Given the description of an element on the screen output the (x, y) to click on. 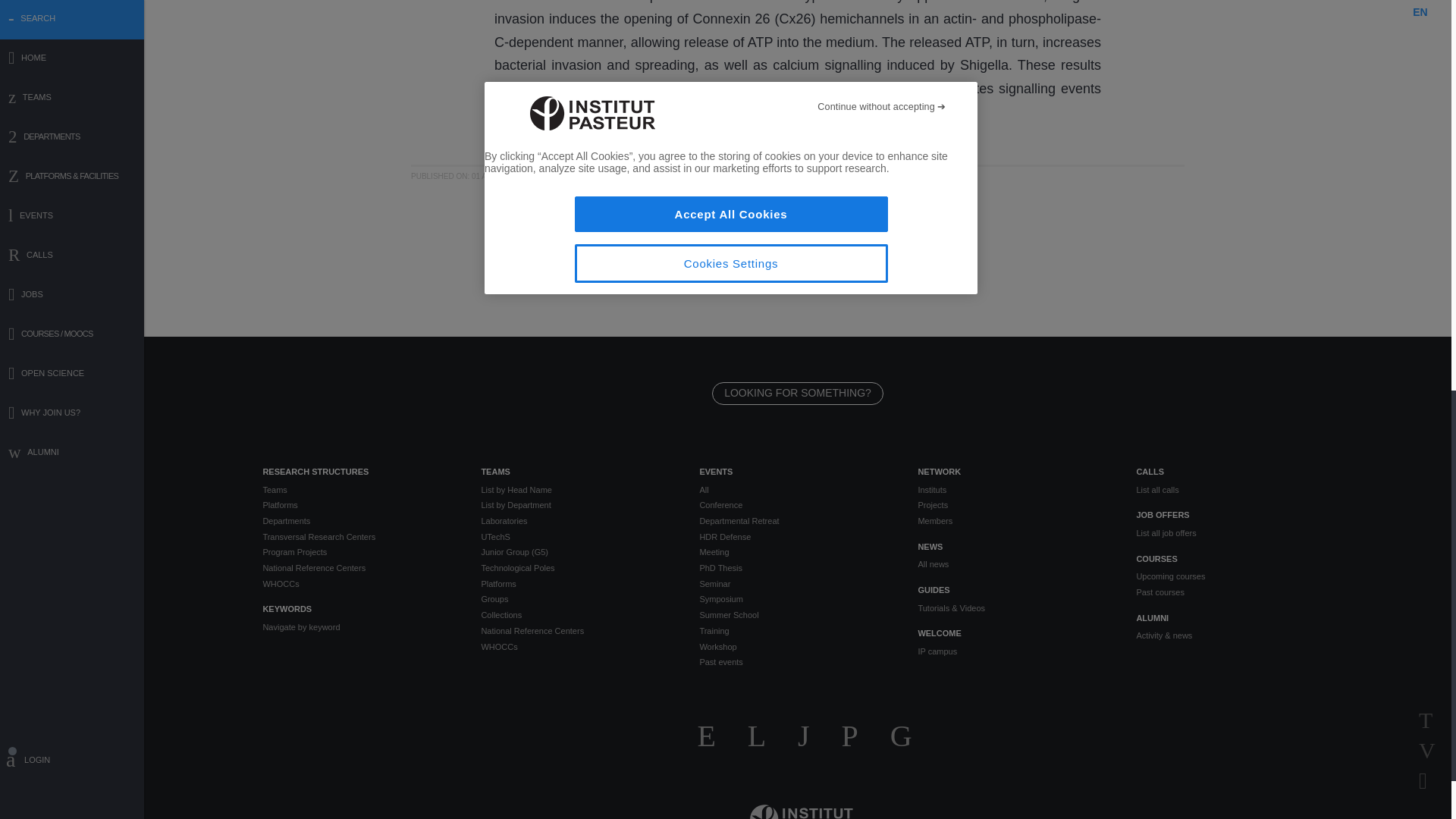
Teams (360, 490)
PUBLISHED ON: 01 AUG 2003 (463, 175)
Platforms (360, 504)
Transversal Research Centers (360, 536)
Departments (360, 521)
